Given the description of an element on the screen output the (x, y) to click on. 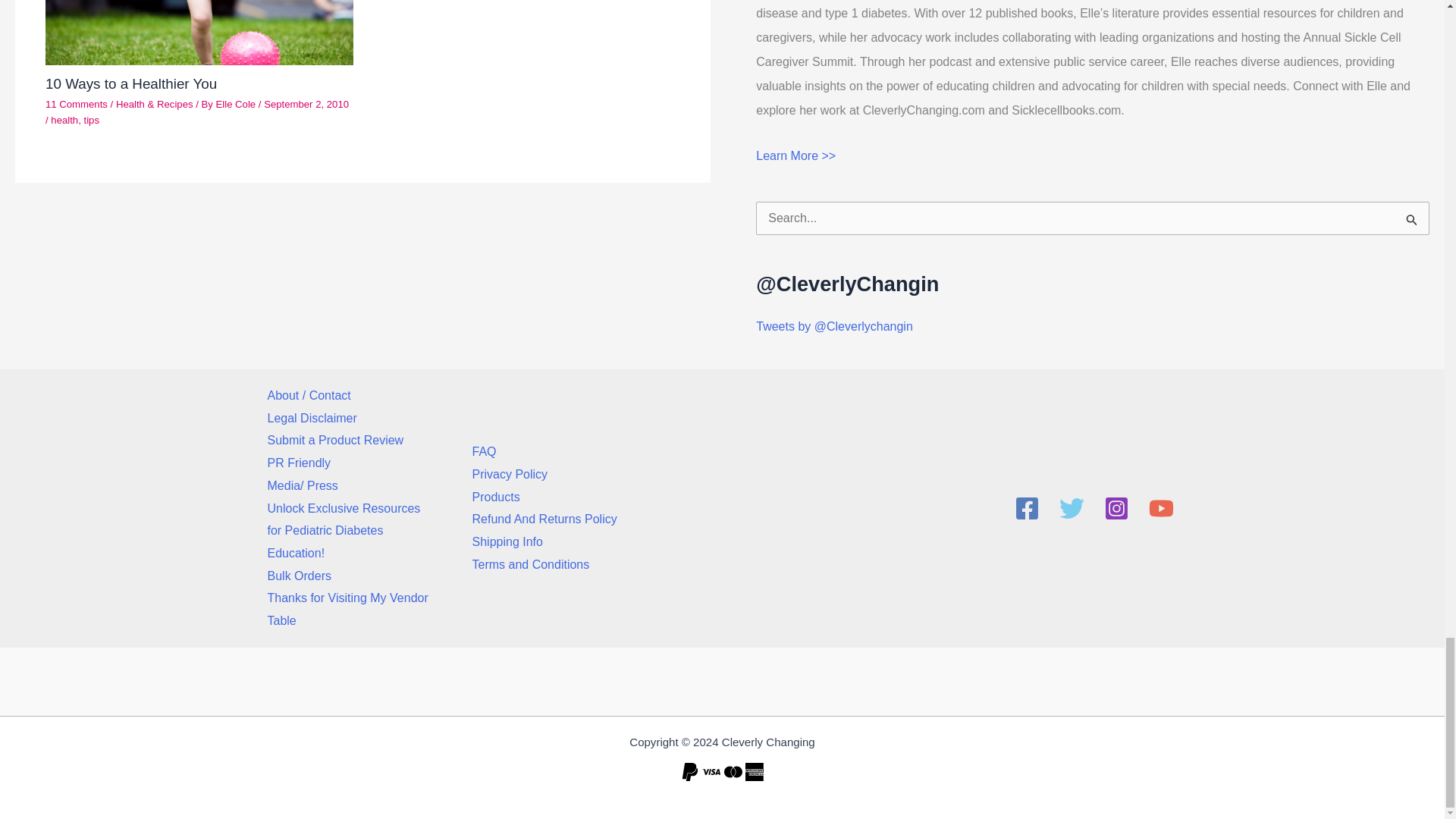
American Express (753, 771)
View all posts by Elle Cole (237, 103)
Visa (710, 771)
PayPal (689, 771)
MasterCard (732, 771)
